Given the description of an element on the screen output the (x, y) to click on. 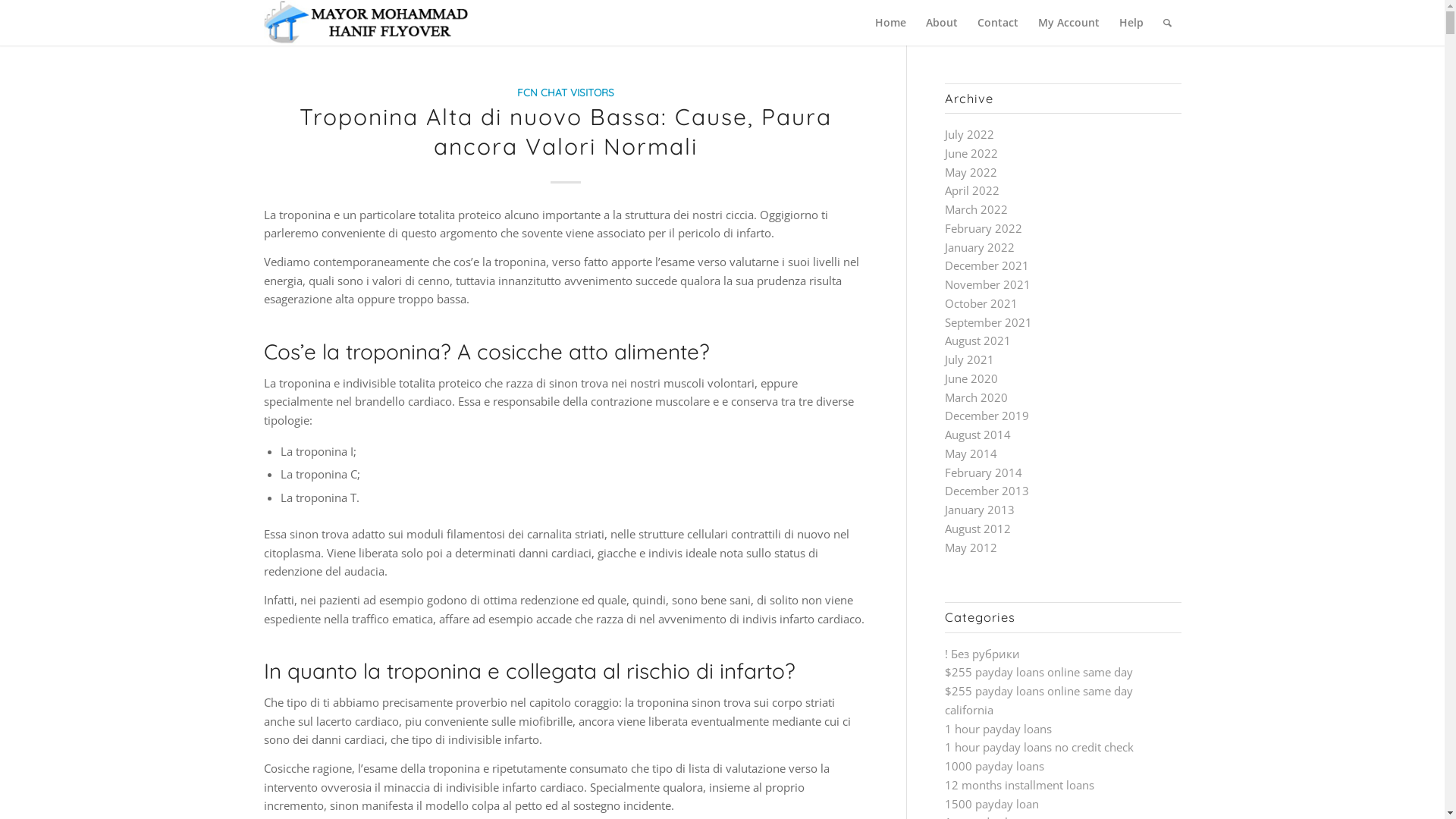
August 2021 Element type: text (977, 340)
April 2022 Element type: text (971, 189)
May 2012 Element type: text (970, 547)
Contact Element type: text (997, 22)
May 2022 Element type: text (970, 171)
December 2013 Element type: text (986, 490)
February 2022 Element type: text (983, 227)
July 2022 Element type: text (969, 133)
1 hour payday loans no credit check Element type: text (1038, 746)
1500 payday loan Element type: text (991, 803)
February 2014 Element type: text (983, 472)
December 2021 Element type: text (986, 265)
December 2019 Element type: text (986, 415)
January 2022 Element type: text (979, 246)
June 2022 Element type: text (970, 152)
About Element type: text (941, 22)
March 2022 Element type: text (975, 208)
May 2014 Element type: text (970, 453)
September 2021 Element type: text (988, 321)
Home Element type: text (889, 22)
March 2020 Element type: text (975, 396)
November 2021 Element type: text (987, 283)
Help Element type: text (1130, 22)
1000 payday loans Element type: text (994, 765)
$255 payday loans online same day Element type: text (1038, 671)
August 2014 Element type: text (977, 434)
August 2012 Element type: text (977, 528)
FCN CHAT VISITORS Element type: text (565, 91)
$255 payday loans online same day california Element type: text (1038, 700)
January 2013 Element type: text (979, 509)
12 months installment loans Element type: text (1019, 784)
July 2021 Element type: text (969, 359)
1 hour payday loans Element type: text (997, 728)
My Account Element type: text (1068, 22)
October 2021 Element type: text (980, 302)
June 2020 Element type: text (970, 377)
